Given the description of an element on the screen output the (x, y) to click on. 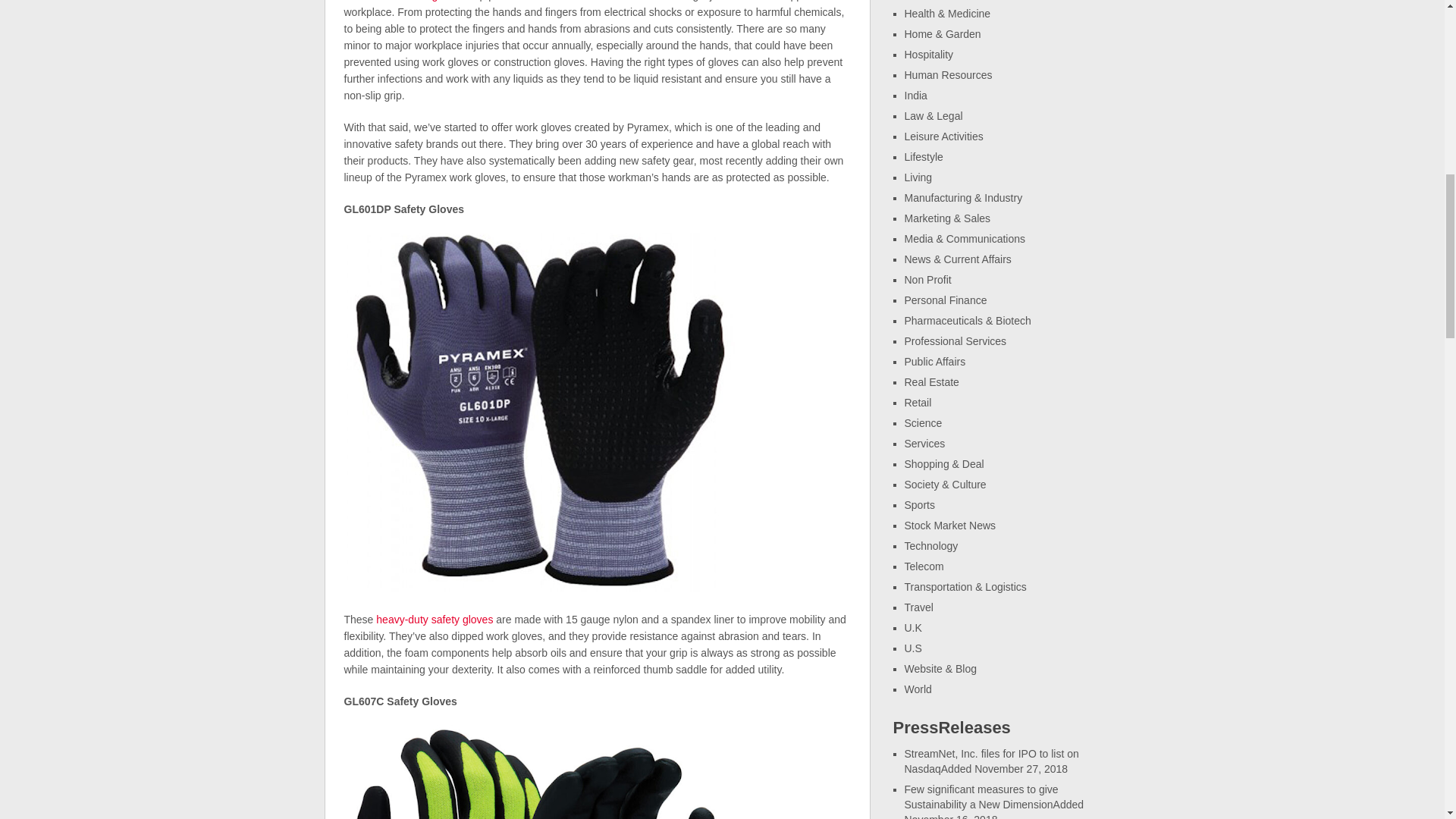
Construction work gloves (403, 0)
heavy-duty safety gloves (434, 619)
